Given the description of an element on the screen output the (x, y) to click on. 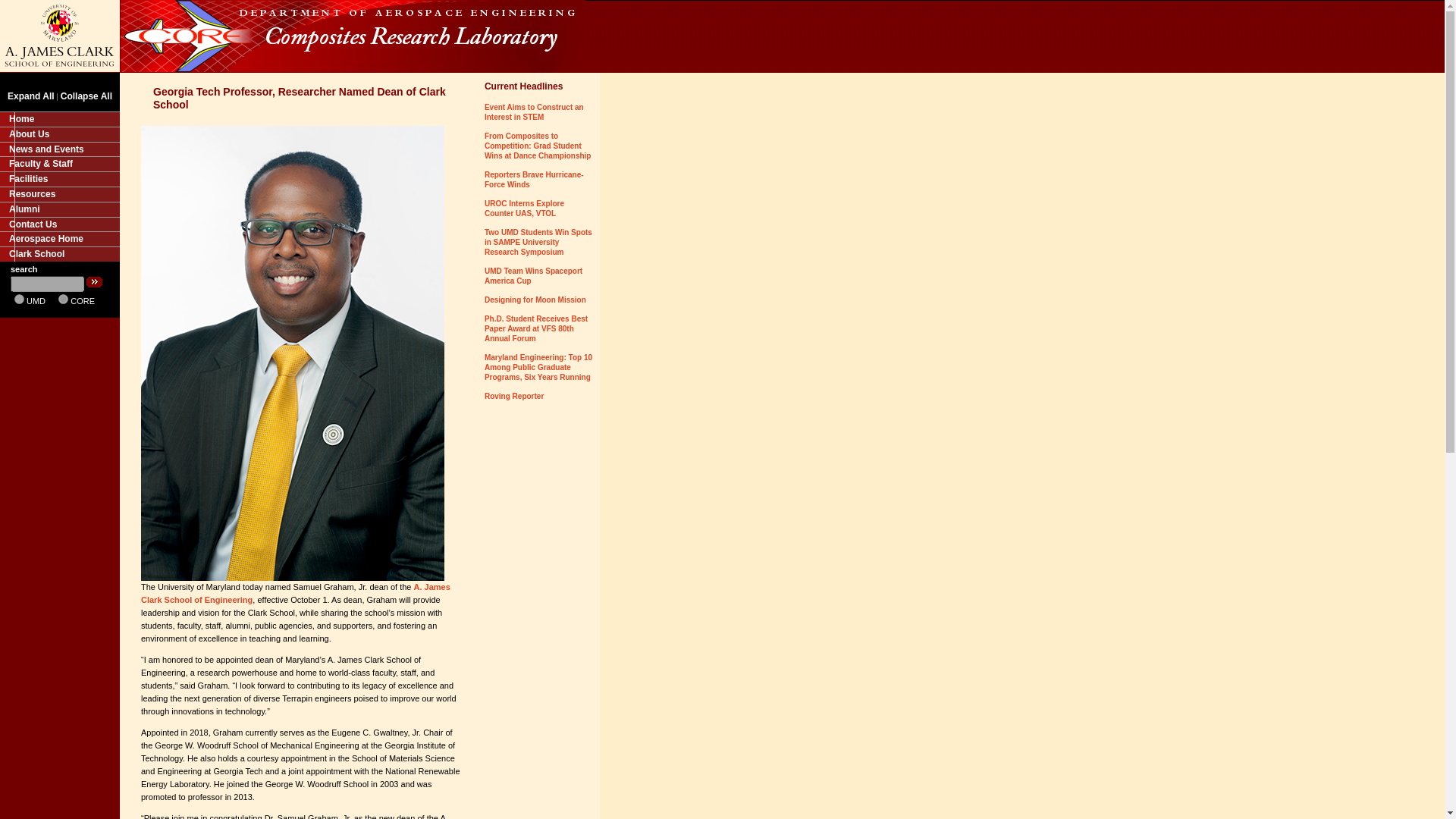
UROC Interns Explore Counter UAS, VTOL (524, 208)
Facilities (59, 178)
site:core.umd.edu (63, 298)
Aerospace Home (59, 238)
Search (93, 281)
Event Aims to Construct an Interest in STEM (533, 112)
About Us (59, 133)
Home (59, 118)
Expand All (31, 95)
Alumni (59, 209)
